Given the description of an element on the screen output the (x, y) to click on. 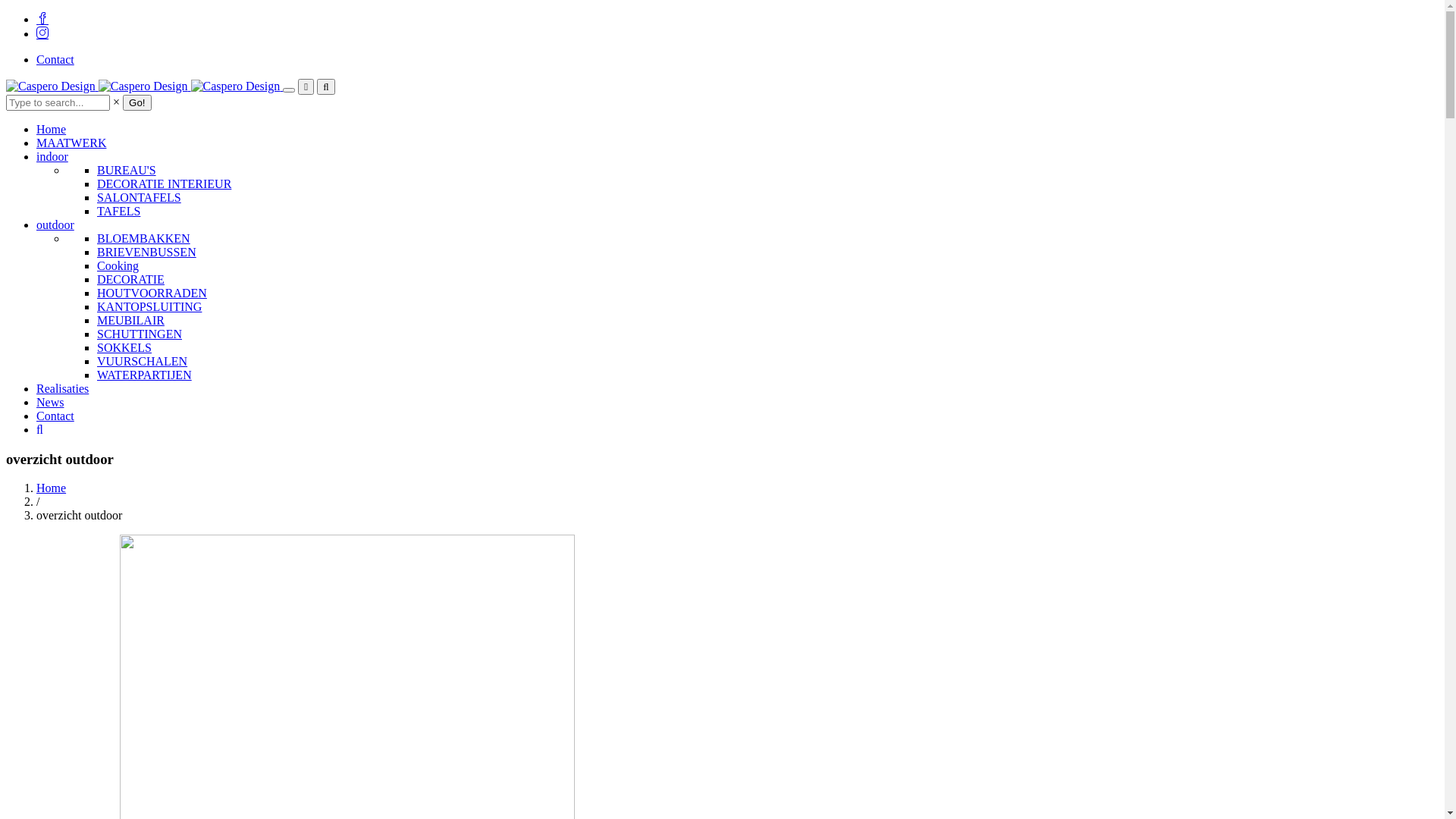
HOUTVOORRADEN Element type: text (152, 292)
Contact Element type: text (55, 59)
indoor Element type: text (52, 156)
outdoor Element type: text (55, 224)
Overslaan en naar de inhoud gaan Element type: text (6, 12)
Go! Element type: text (136, 102)
Geef de woorden op waarnaar u wilt zoeken. Element type: hover (57, 102)
SALONTAFELS Element type: text (139, 197)
KANTOPSLUITING Element type: text (149, 306)
Home Element type: text (50, 487)
MEUBILAIR Element type: text (130, 319)
TAFELS Element type: text (118, 210)
BRIEVENBUSSEN Element type: text (146, 251)
MAATWERK Element type: text (71, 142)
BUREAU'S Element type: text (126, 169)
News Element type: text (49, 401)
Home Element type: text (50, 128)
SCHUTTINGEN Element type: text (139, 333)
DECORATIE INTERIEUR Element type: text (164, 183)
DECORATIE Element type: text (130, 279)
BLOEMBAKKEN Element type: text (143, 238)
Contact Element type: text (55, 415)
VUURSCHALEN Element type: text (142, 360)
SOKKELS Element type: text (124, 347)
Realisaties Element type: text (62, 388)
Cooking Element type: text (117, 265)
WATERPARTIJEN Element type: text (144, 374)
